Given the description of an element on the screen output the (x, y) to click on. 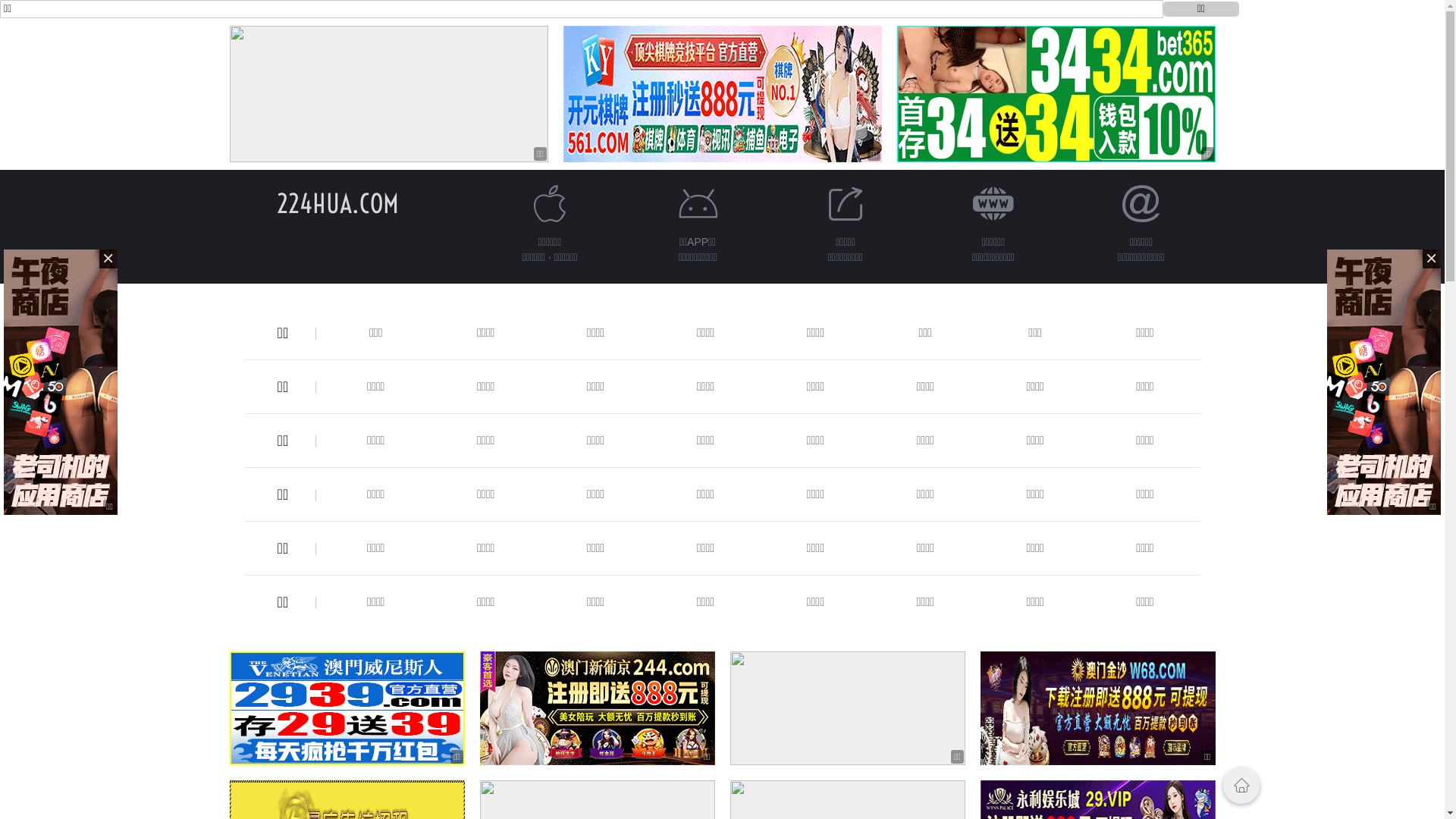
224HUA.COM Element type: text (337, 203)
